Given the description of an element on the screen output the (x, y) to click on. 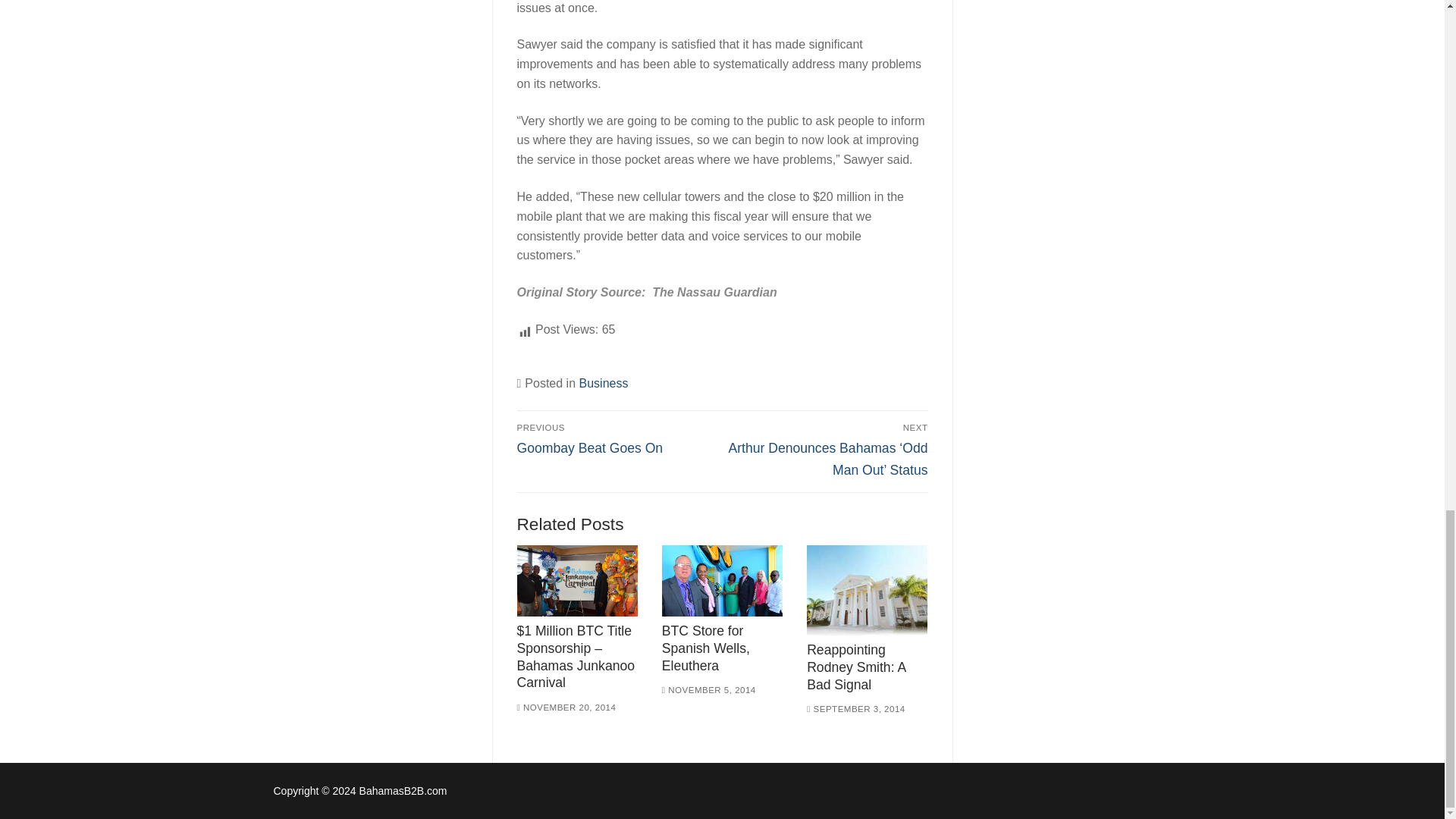
BTC Store for Spanish Wells, Eleuthera (722, 580)
SEPTEMBER 3, 2014 (855, 708)
NOVEMBER 5, 2014 (708, 689)
Reappointing Rodney Smith: A Bad Signal (866, 590)
Reappointing Rodney Smith: A Bad Signal (617, 439)
BTC Store for Spanish Wells, Eleuthera (855, 667)
Business (705, 648)
NOVEMBER 20, 2014 (603, 382)
Reappointing Rodney Smith: A Bad Signal (565, 706)
